Given the description of an element on the screen output the (x, y) to click on. 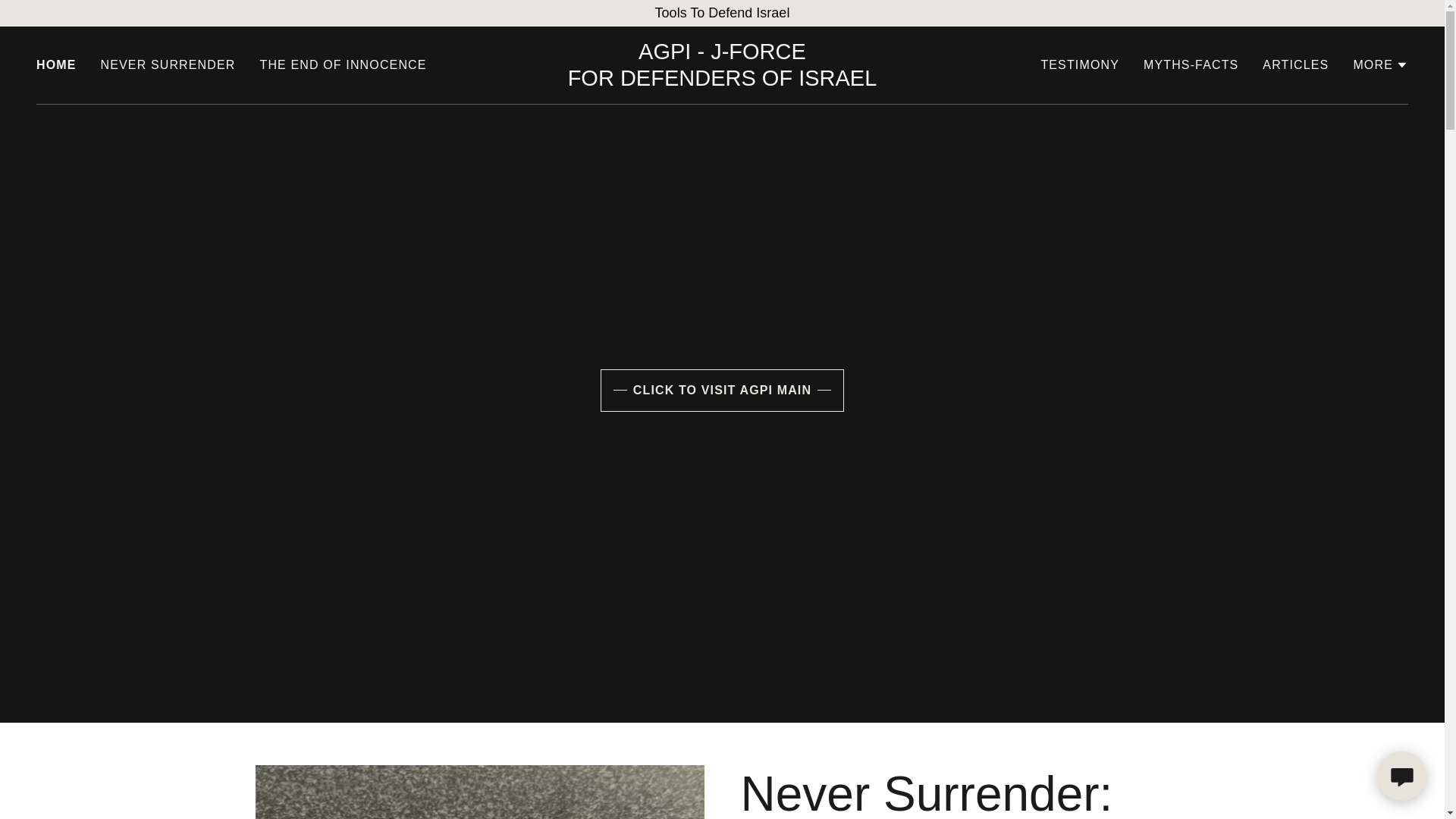
TESTIMONY (1079, 64)
ARTICLES (1295, 64)
HOME (56, 65)
THE END OF INNOCENCE (721, 80)
MORE (343, 64)
MYTHS-FACTS (1379, 65)
NEVER SURRENDER (1190, 64)
